Given the description of an element on the screen output the (x, y) to click on. 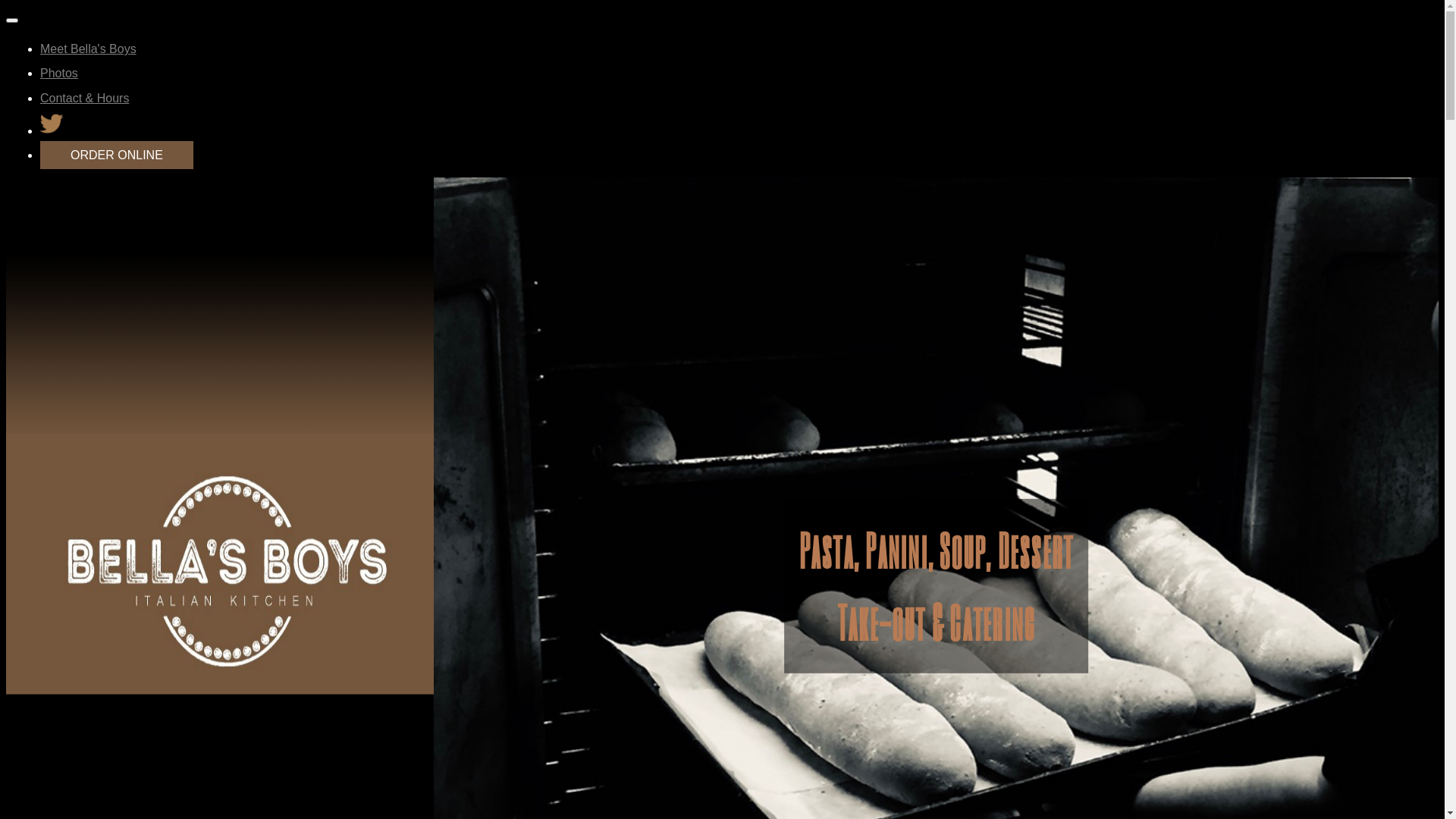
Photos Element type: text (59, 72)
ORDER ONLINE Element type: text (116, 155)
Meet Bella's Boys Element type: text (88, 48)
Contact & Hours Element type: text (84, 97)
